Given the description of an element on the screen output the (x, y) to click on. 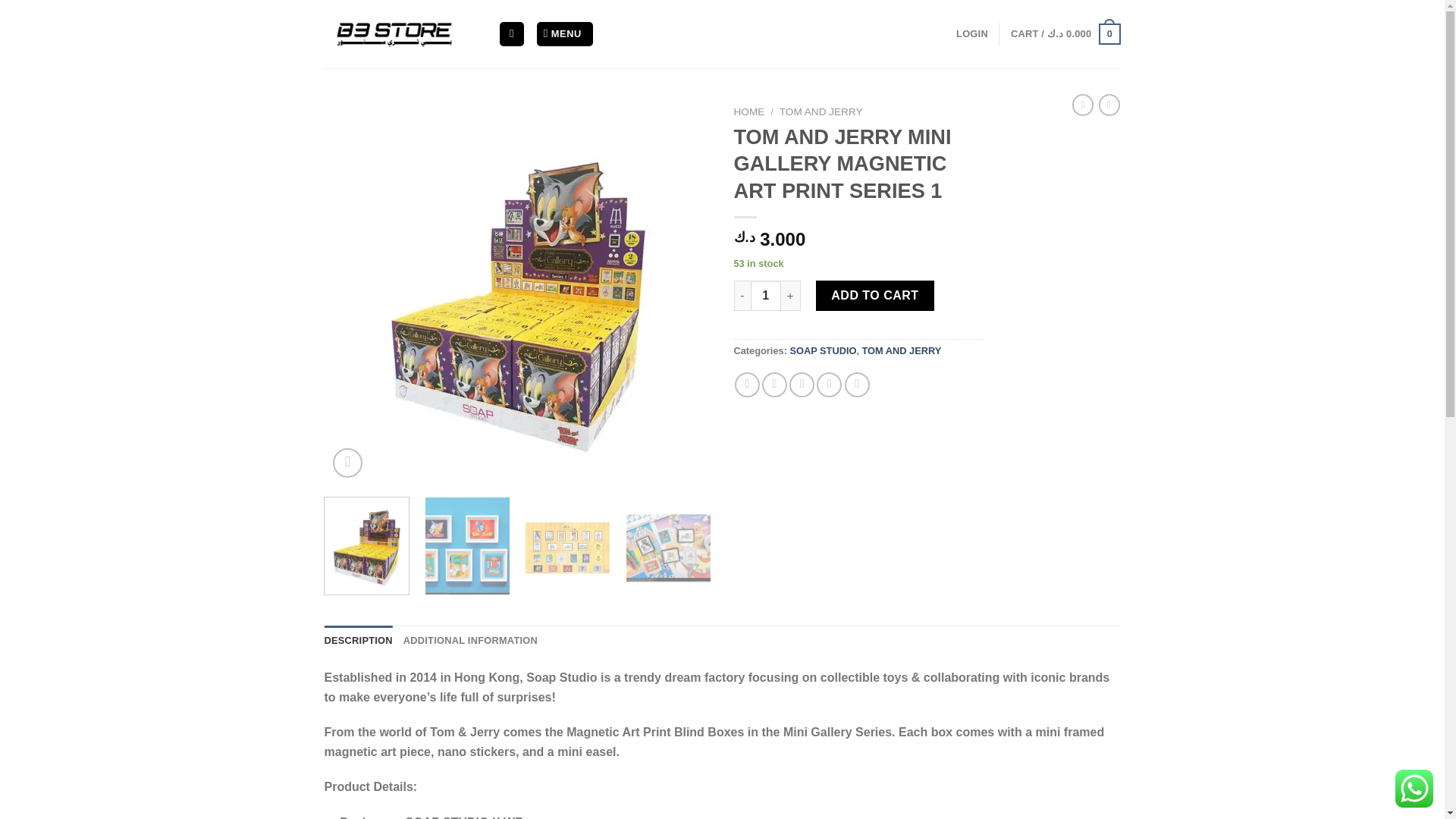
TOM AND JERRY (820, 111)
Qty (765, 295)
HOME (749, 111)
MENU (564, 34)
Cart (1065, 34)
LOGIN (972, 33)
1 (765, 295)
ADD TO CART (874, 295)
B3 STORE - B3 STORE (400, 33)
SOAP STUDIO (822, 350)
